Given the description of an element on the screen output the (x, y) to click on. 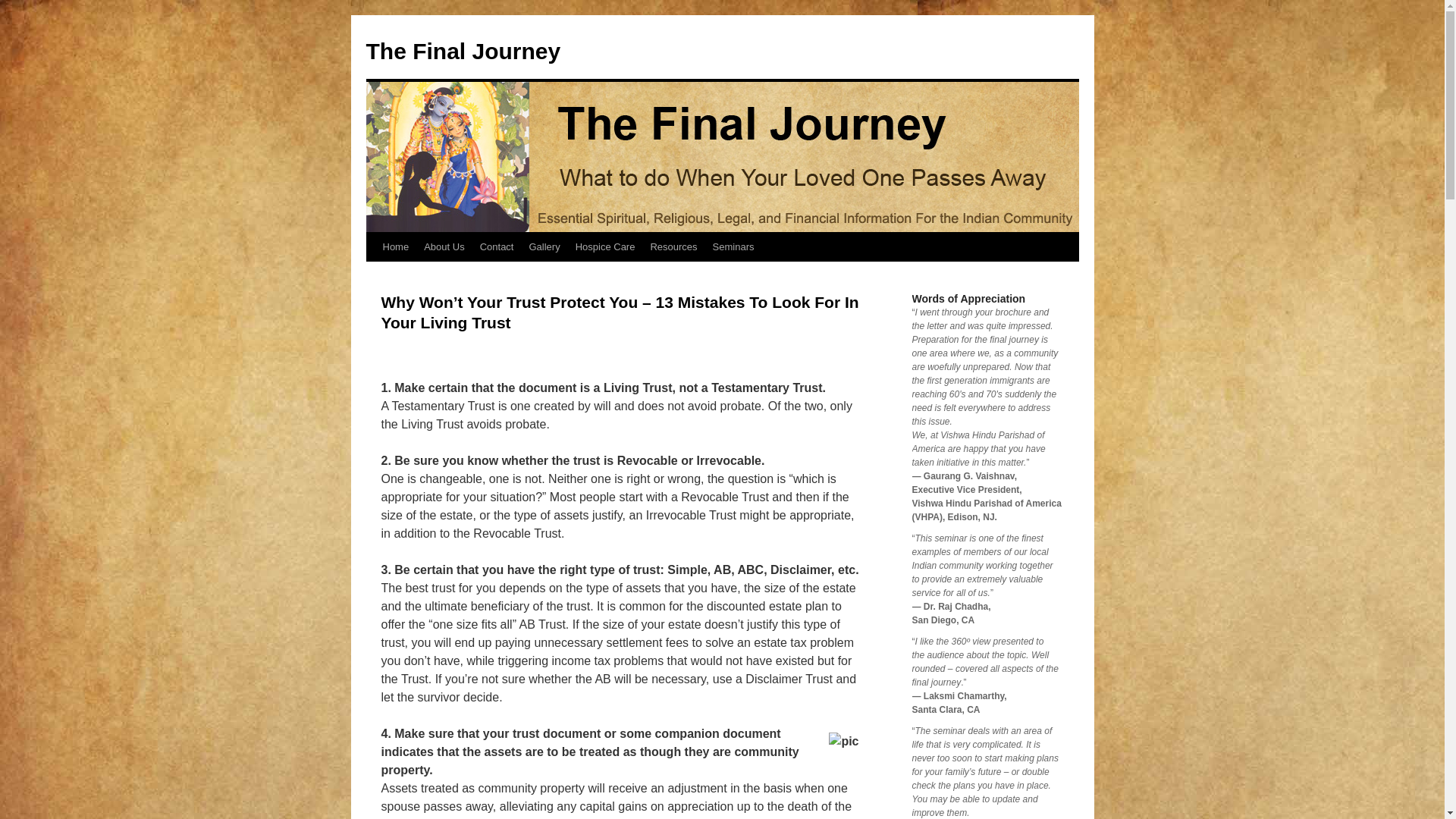
Gallery (544, 246)
Contact (496, 246)
The Final Journey (462, 50)
Home (395, 246)
About Us (443, 246)
The Final Journey (462, 50)
Seminars (732, 246)
Resources (673, 246)
Hospice Care (605, 246)
